Given the description of an element on the screen output the (x, y) to click on. 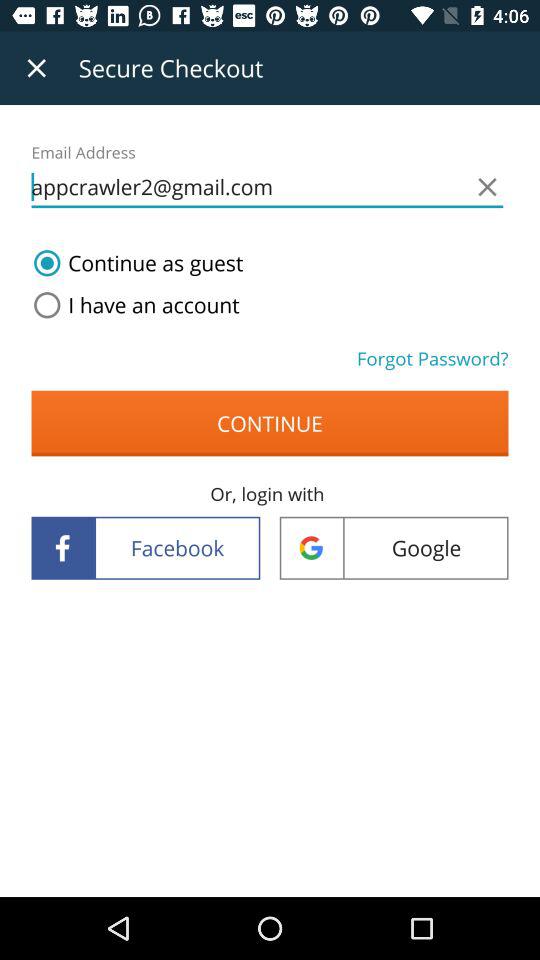
click icon above appcrawler2@gmail.com (36, 68)
